Given the description of an element on the screen output the (x, y) to click on. 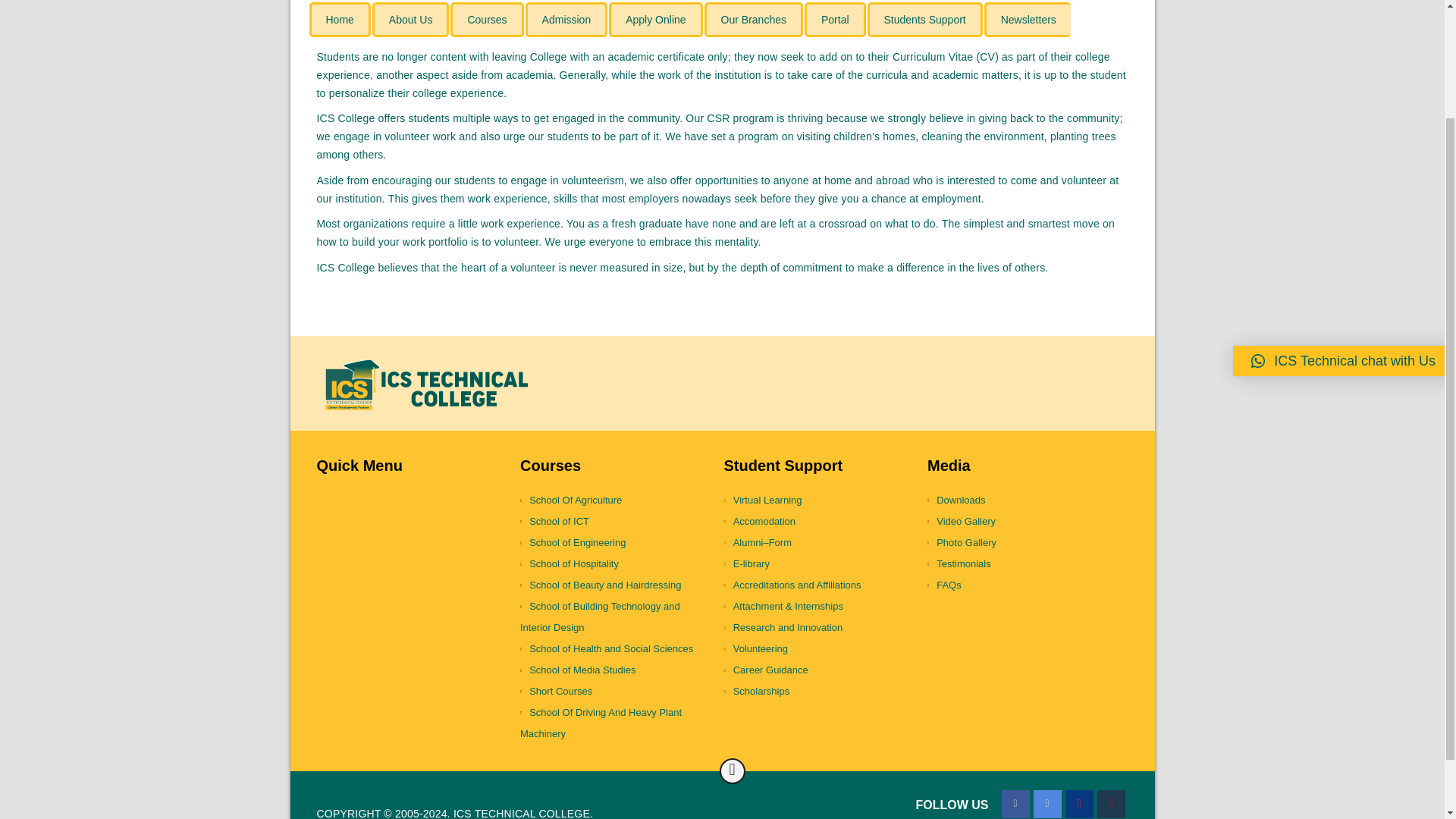
FAQs (1023, 585)
Video Gallery (1023, 521)
Photo Gallery (1023, 542)
School of ICT (615, 521)
Volunteering (819, 649)
Students Support (924, 19)
Home (339, 19)
School of Hospitality (615, 563)
Newsletters (1027, 19)
Short Courses (615, 690)
Portal (835, 19)
Apply Online (654, 19)
Research and Innovation (819, 627)
Our Branches (753, 19)
School Of Driving And Heavy Plant Machinery (615, 722)
